Given the description of an element on the screen output the (x, y) to click on. 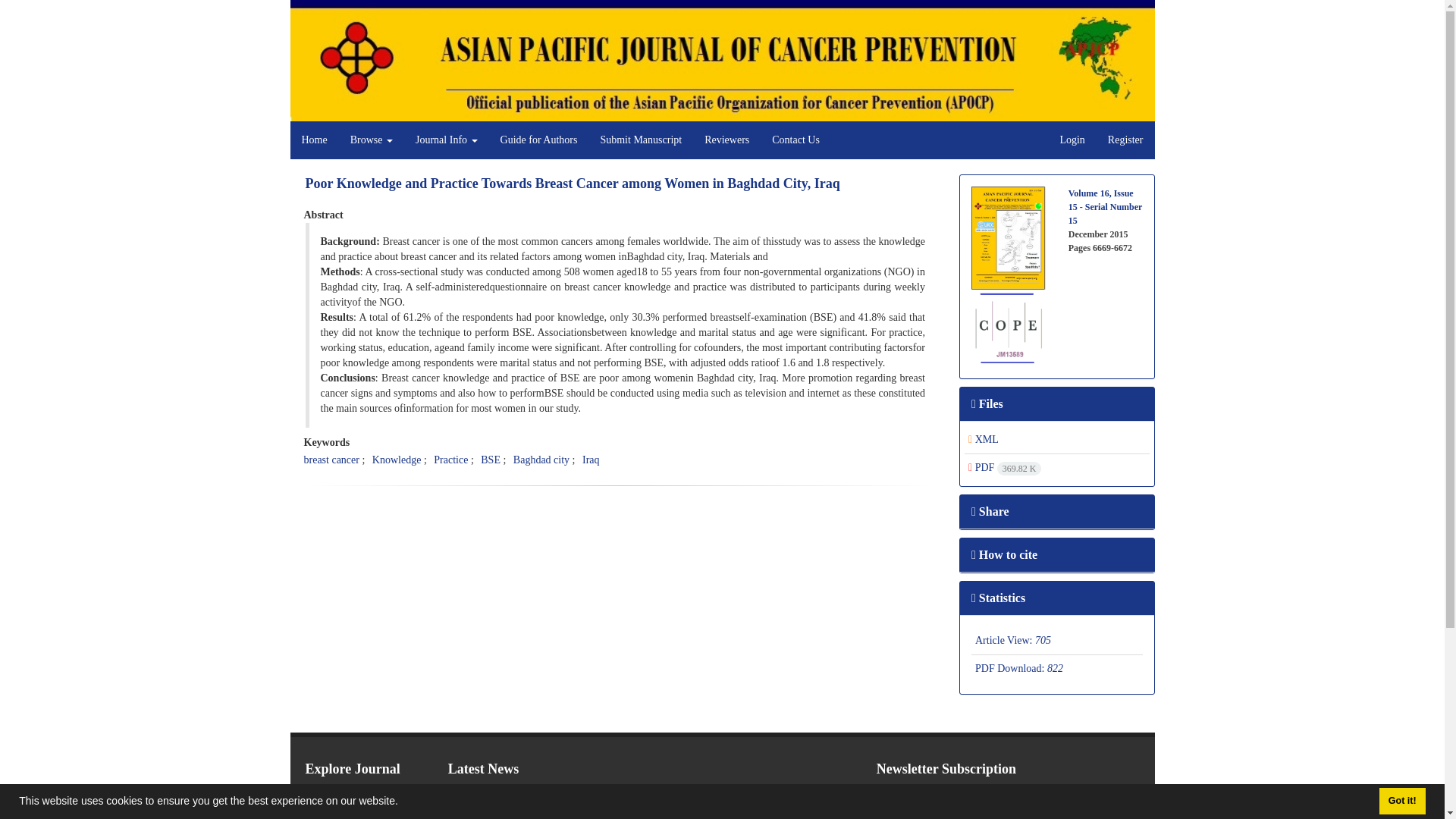
Got it! (1401, 800)
PDF 369.82 K (1004, 467)
Browse (371, 139)
Baghdad city (541, 460)
Reviewers (726, 139)
breast cancer (330, 460)
Practice (450, 460)
Share (990, 511)
BSE (490, 460)
Files (987, 403)
